Given the description of an element on the screen output the (x, y) to click on. 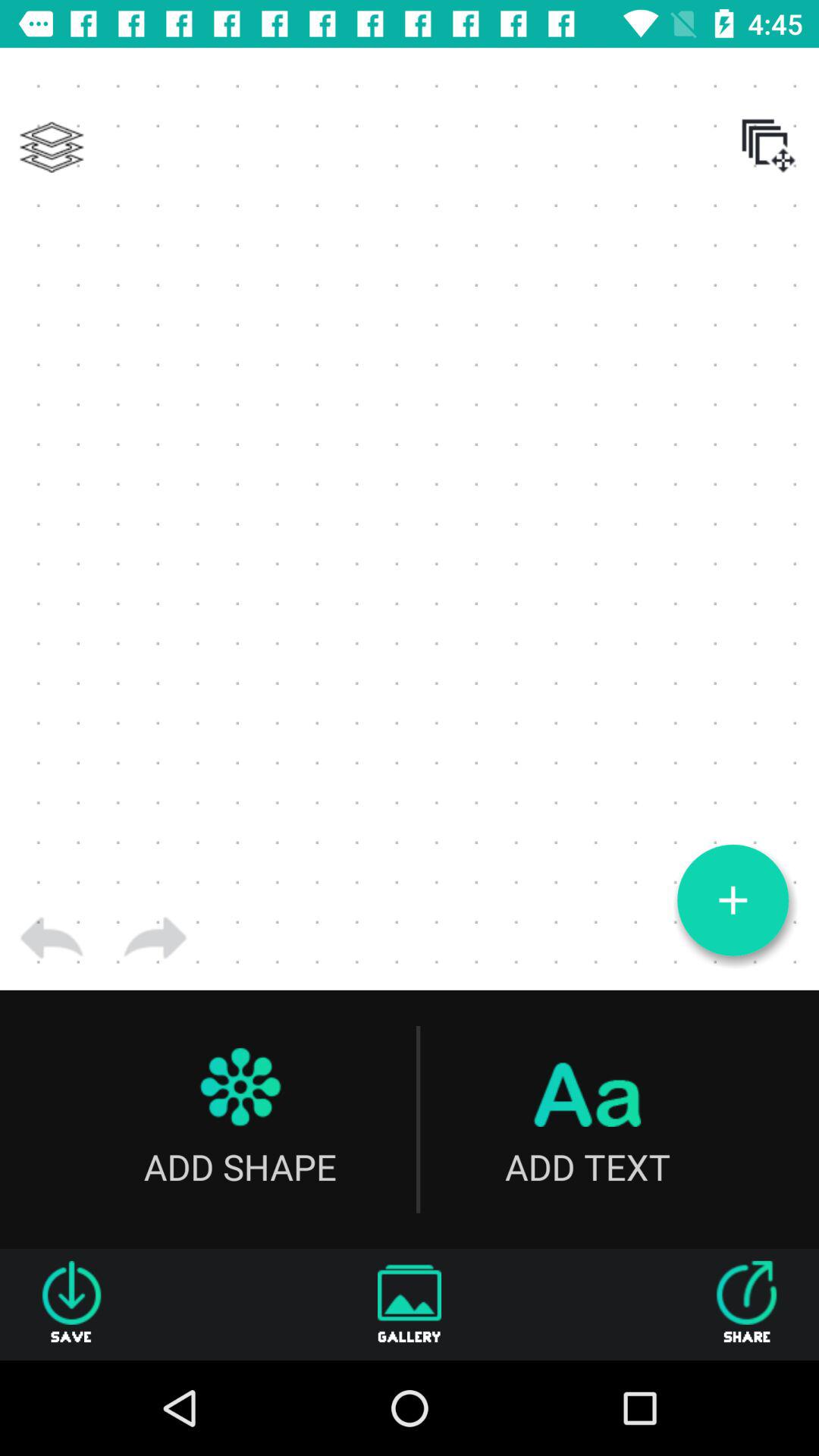
tap the item next to the share icon (409, 1304)
